Given the description of an element on the screen output the (x, y) to click on. 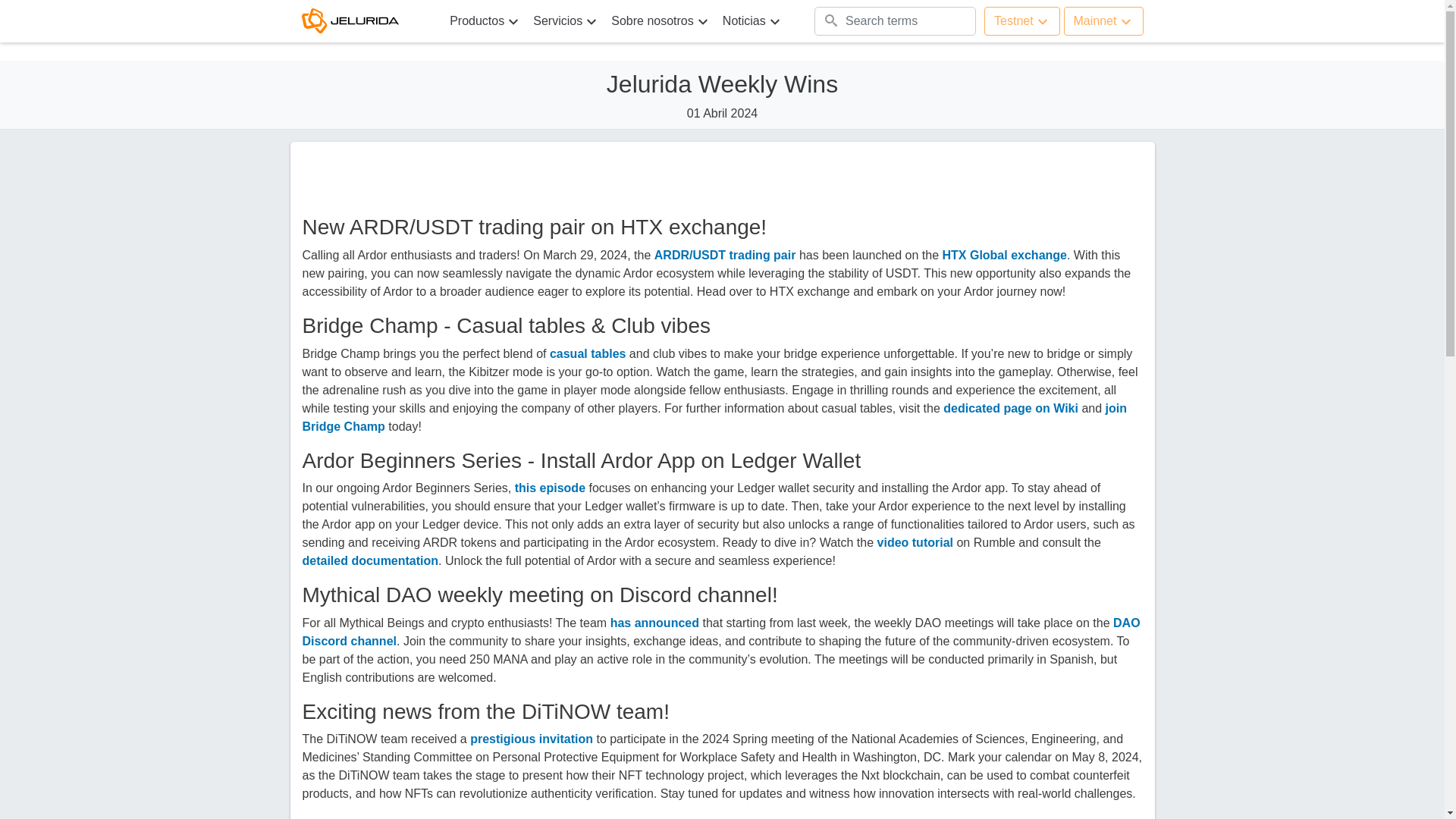
video tutorial (915, 542)
detailed documentation (369, 560)
Buscar (850, 21)
Mainnet (1102, 21)
join Bridge Champ (713, 417)
HTX Global exchange (1003, 254)
Learn more about Jelurida products or download installers (485, 20)
this episode (550, 487)
Pasar al contenido principal (74, 8)
casual tables (588, 353)
Testnet (1021, 21)
Servicios que ofrece Jelurida (566, 20)
Jelurida (357, 20)
Inicio (357, 20)
has announced (654, 622)
